Given the description of an element on the screen output the (x, y) to click on. 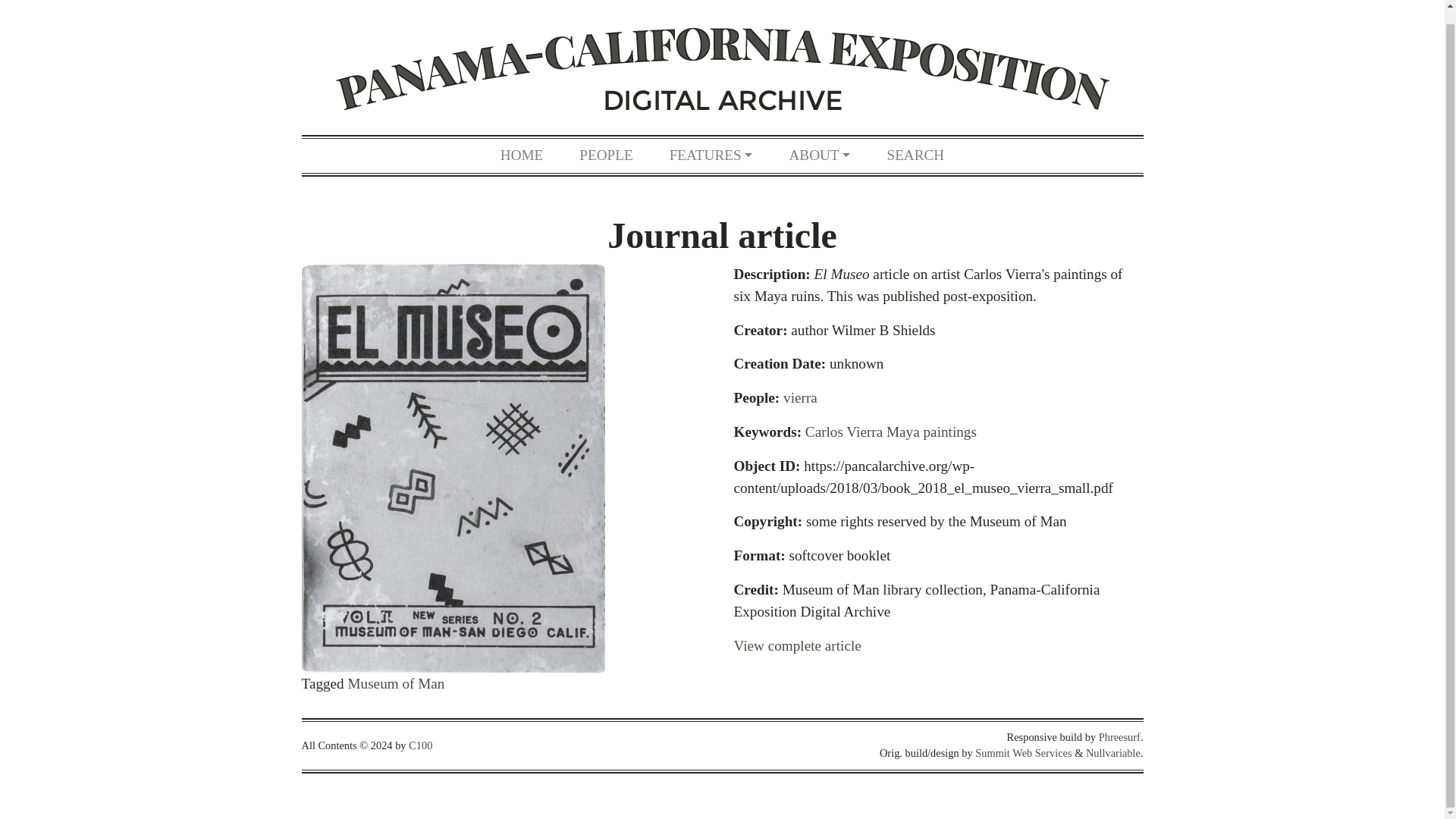
View complete article (797, 645)
Nullvariable (1113, 752)
Carlos Vierra (843, 431)
The Committee of One Hundred (420, 745)
Maya (903, 431)
HOME (521, 155)
FEATURES (710, 155)
vierra (799, 397)
Nullvariable (1113, 752)
Web Design by Summit Web Services (1023, 752)
Search (914, 155)
Summit Web Services (1023, 752)
About (818, 155)
paintings (949, 431)
Phreesurf Web Design (1119, 736)
